Given the description of an element on the screen output the (x, y) to click on. 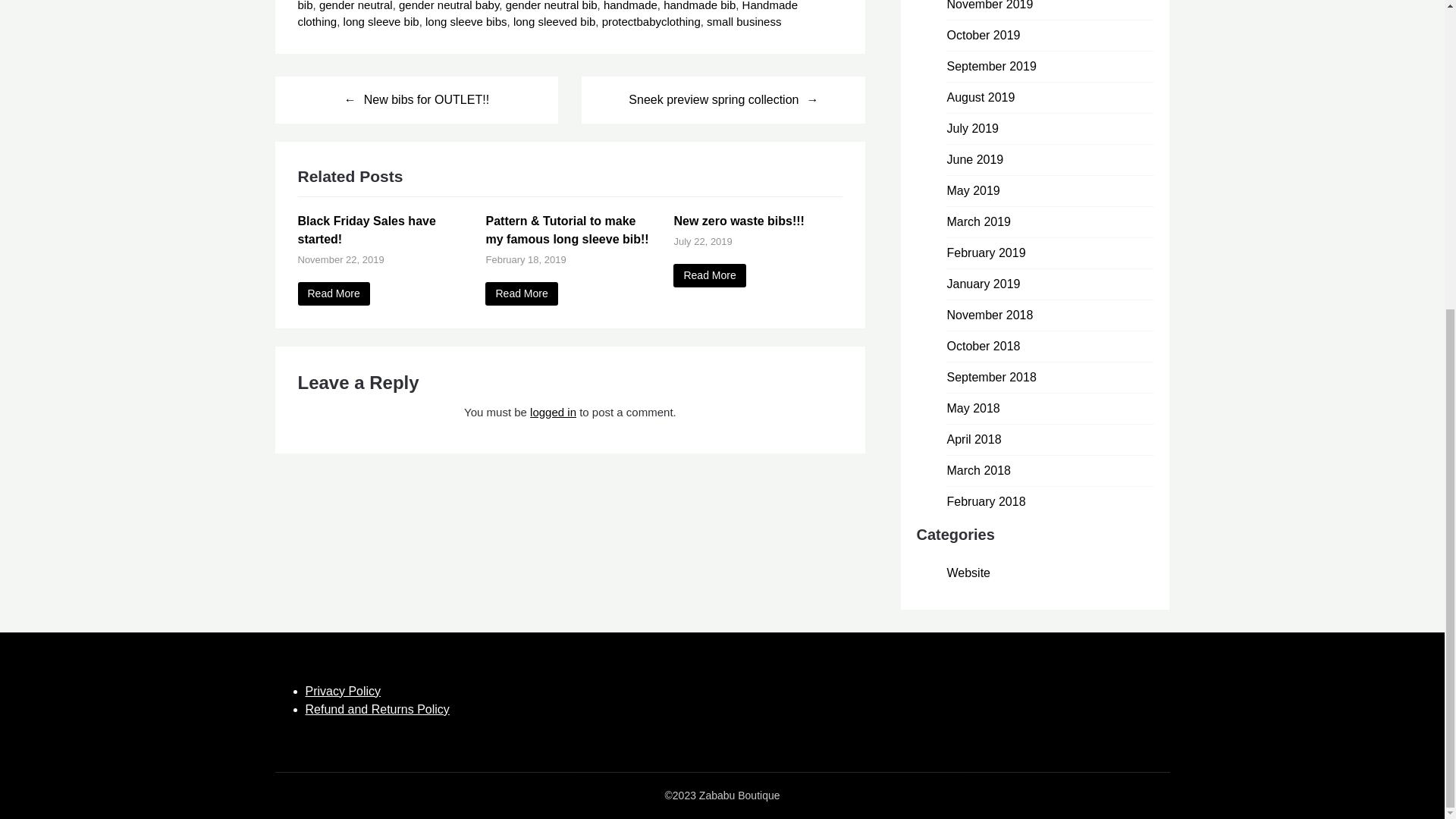
Handmade clothing (546, 13)
long sleeved bib (554, 21)
Sneek preview spring collection (722, 99)
New zero waste bibs!!! (708, 275)
Black Friday Sales have started! (366, 229)
handmade bib (699, 5)
protectbabyclothing (651, 21)
cotton bib (562, 5)
gender neutral (355, 5)
long sleeve bibs (465, 21)
Read More (520, 293)
Read More (333, 293)
gender neutral bib (550, 5)
long sleeve bib (381, 21)
New bibs for OUTLET!! (416, 99)
